Given the description of an element on the screen output the (x, y) to click on. 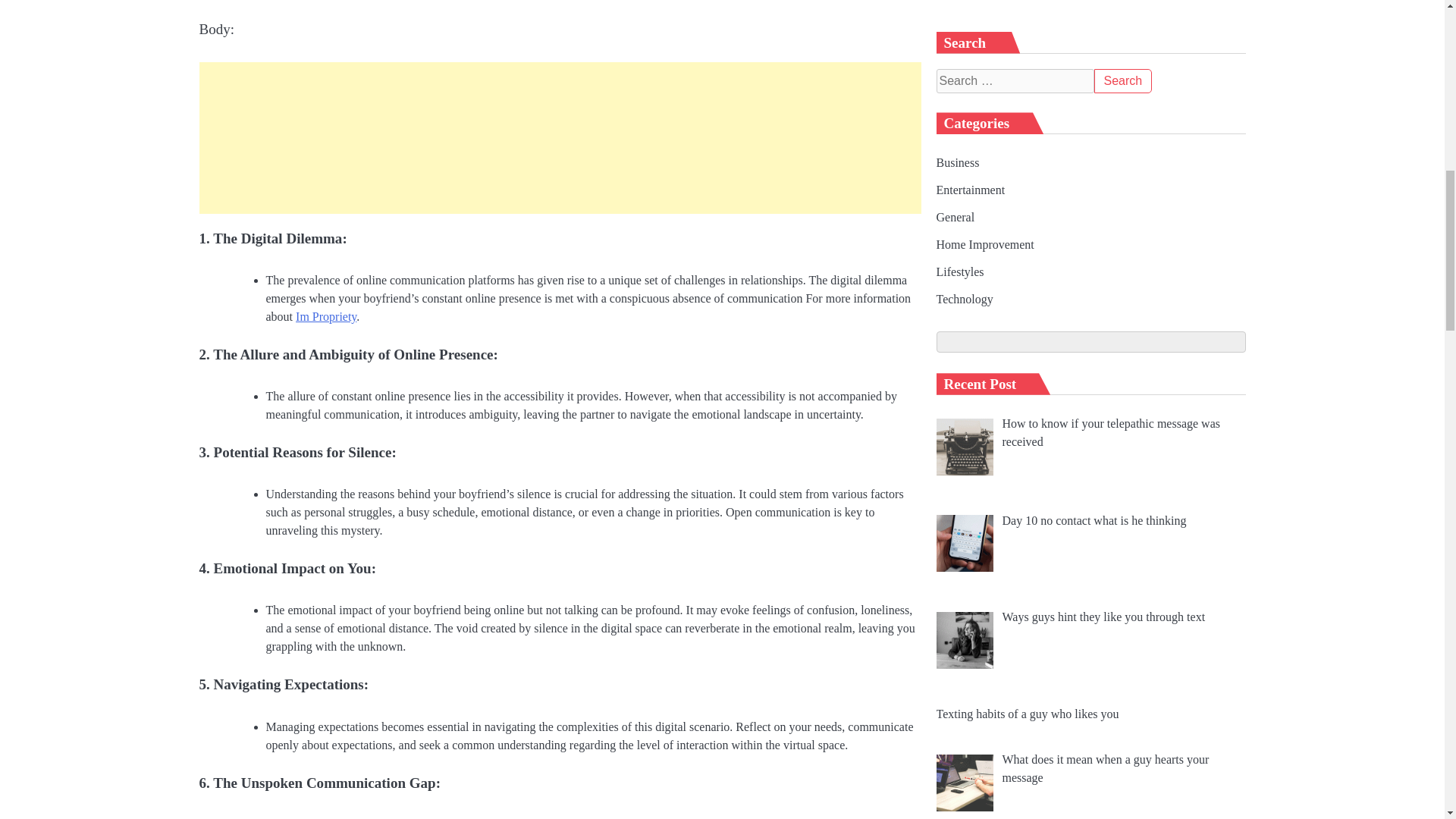
What does it mean when a guy hearts your message (1106, 73)
Texting habits of a guy who likes you (1027, 19)
Im Propriety (325, 316)
Advertisement (559, 137)
